Given the description of an element on the screen output the (x, y) to click on. 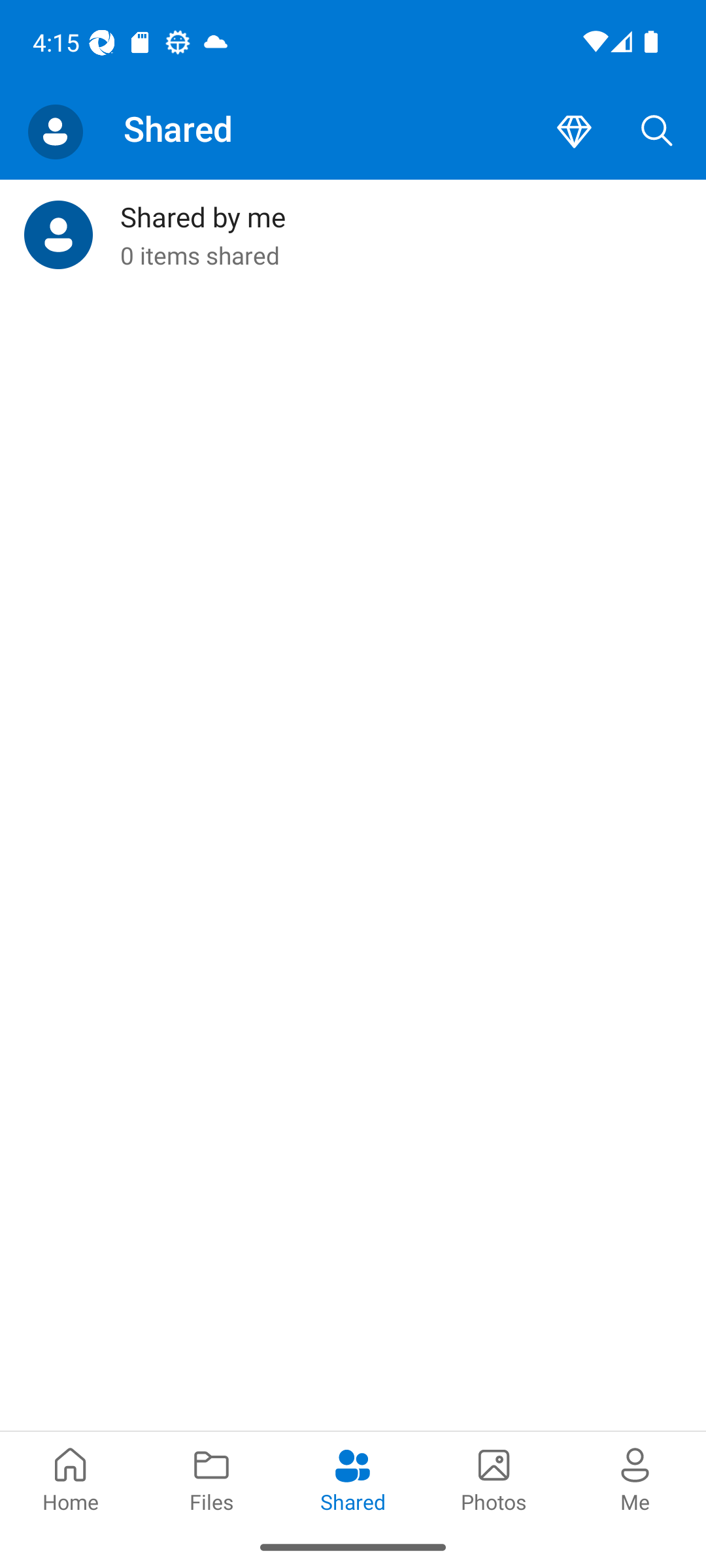
Account switcher (55, 131)
Premium button (574, 131)
Search button (656, 131)
0 Shared by me 0 items shared (353, 235)
Home pivot Home (70, 1478)
Files pivot Files (211, 1478)
Photos pivot Photos (493, 1478)
Me pivot Me (635, 1478)
